Given the description of an element on the screen output the (x, y) to click on. 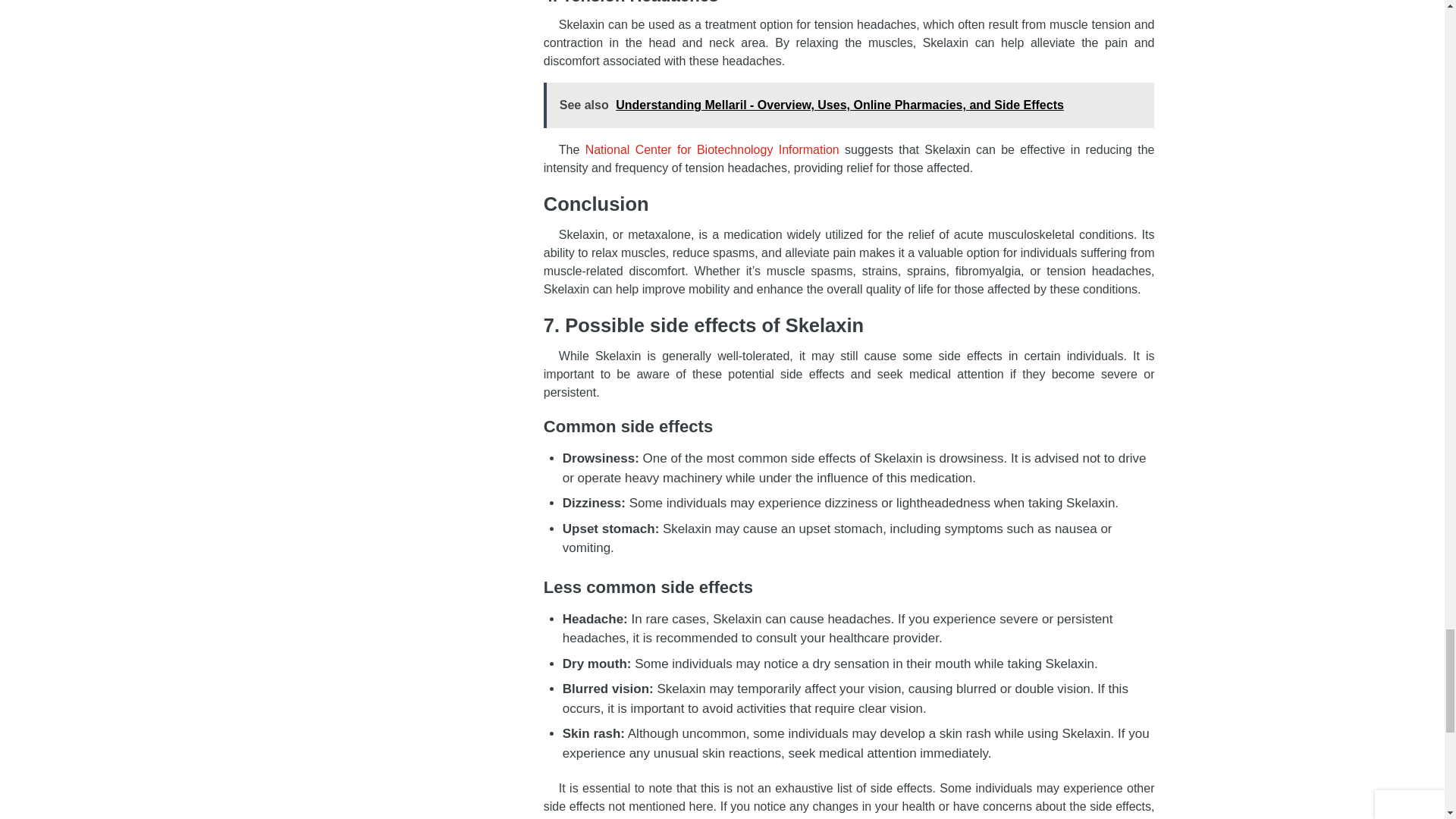
National Center for Biotechnology Information (712, 149)
